Given the description of an element on the screen output the (x, y) to click on. 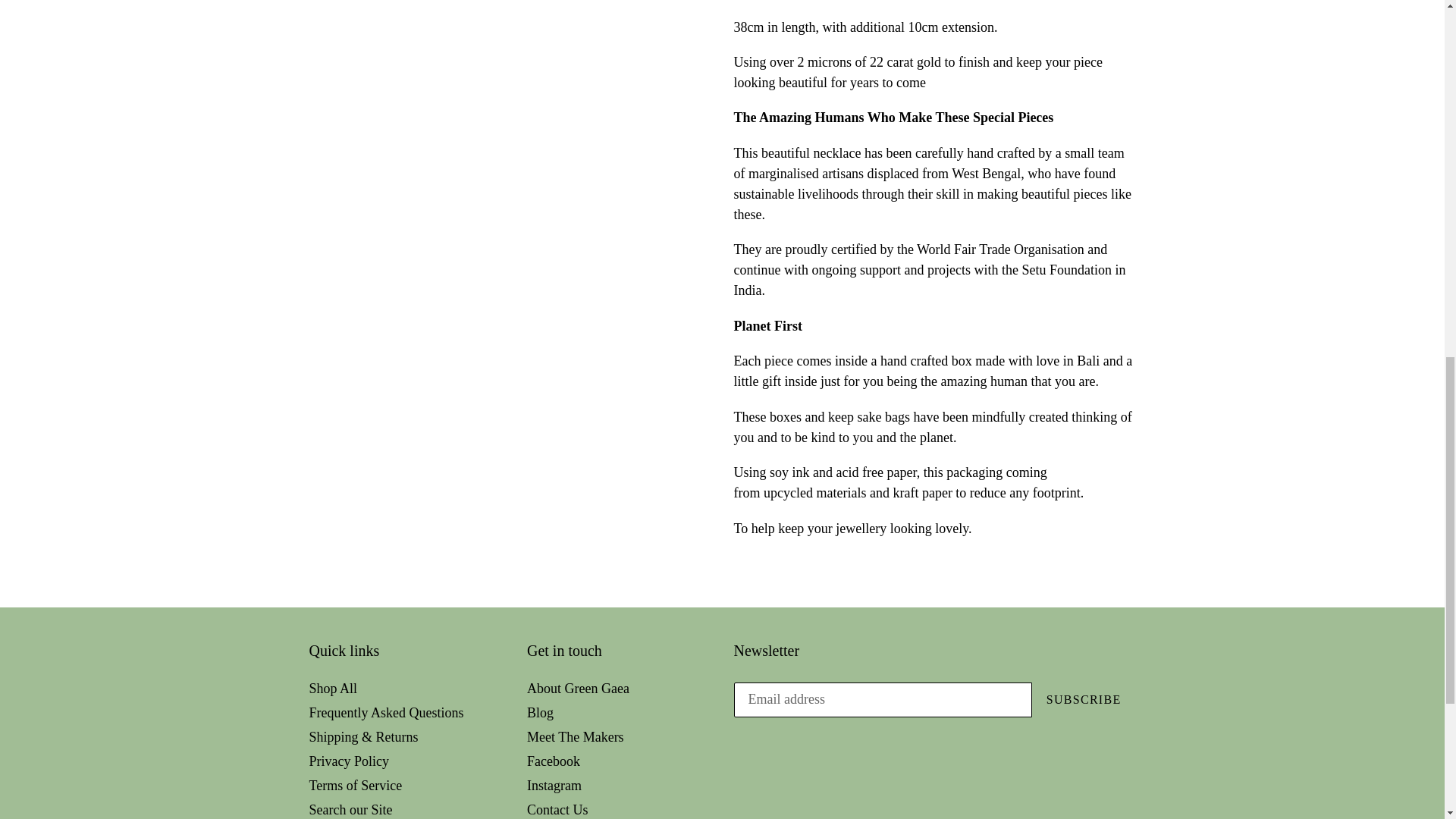
Shop All (333, 688)
Frequently Asked Questions (386, 712)
